Given the description of an element on the screen output the (x, y) to click on. 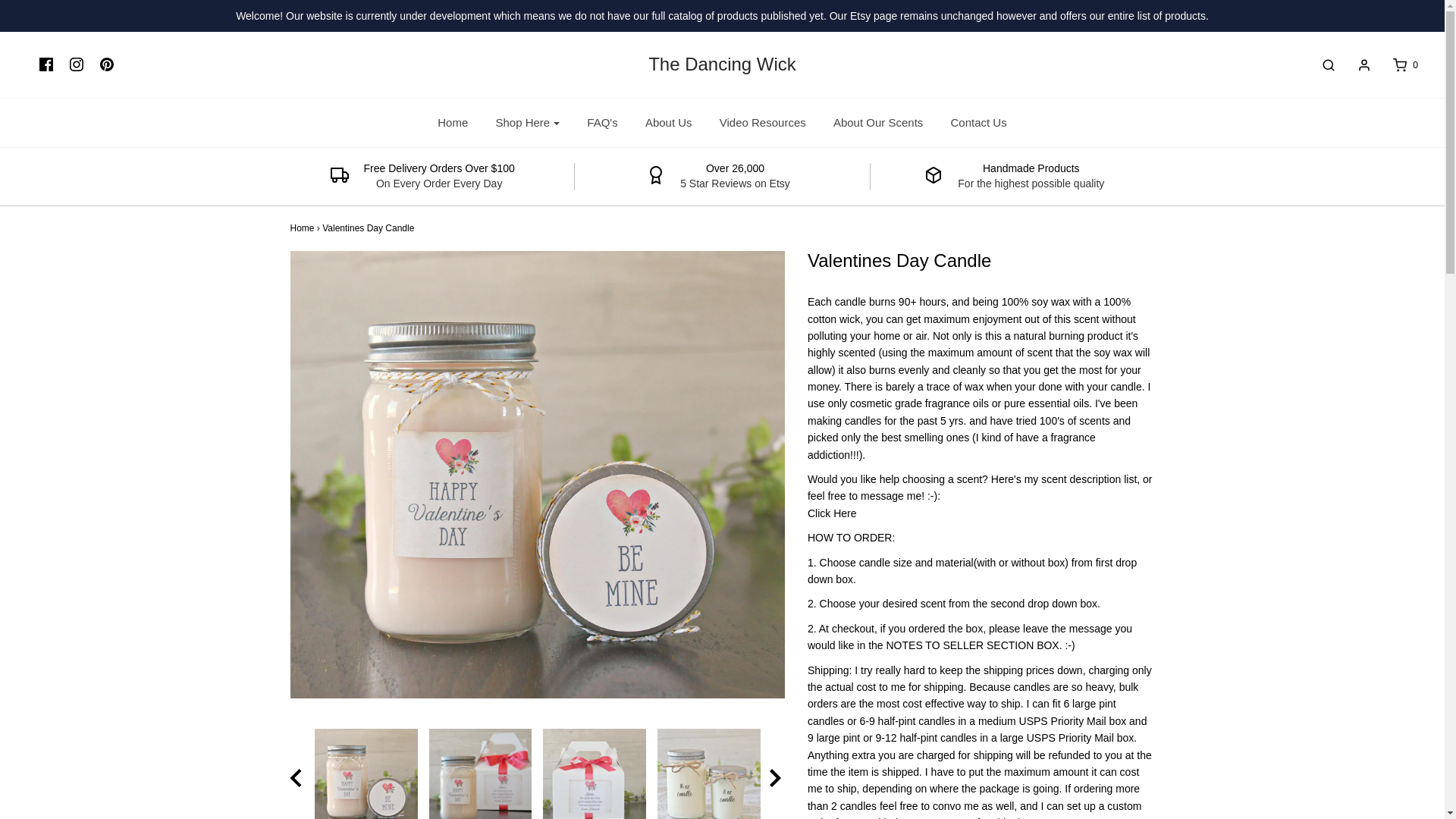
Shop Here (526, 122)
The Dancing Wick (721, 64)
Search (1321, 65)
Valentines Day Candle (707, 773)
Pinterest icon (107, 64)
Facebook icon (46, 64)
Instagram icon (76, 64)
Back to the frontpage (301, 227)
Facebook icon (46, 64)
FAQ's (601, 122)
About Us (668, 122)
Home (452, 122)
Valentines Day Candle (594, 773)
Search (1426, 7)
Cart (1396, 65)
